Given the description of an element on the screen output the (x, y) to click on. 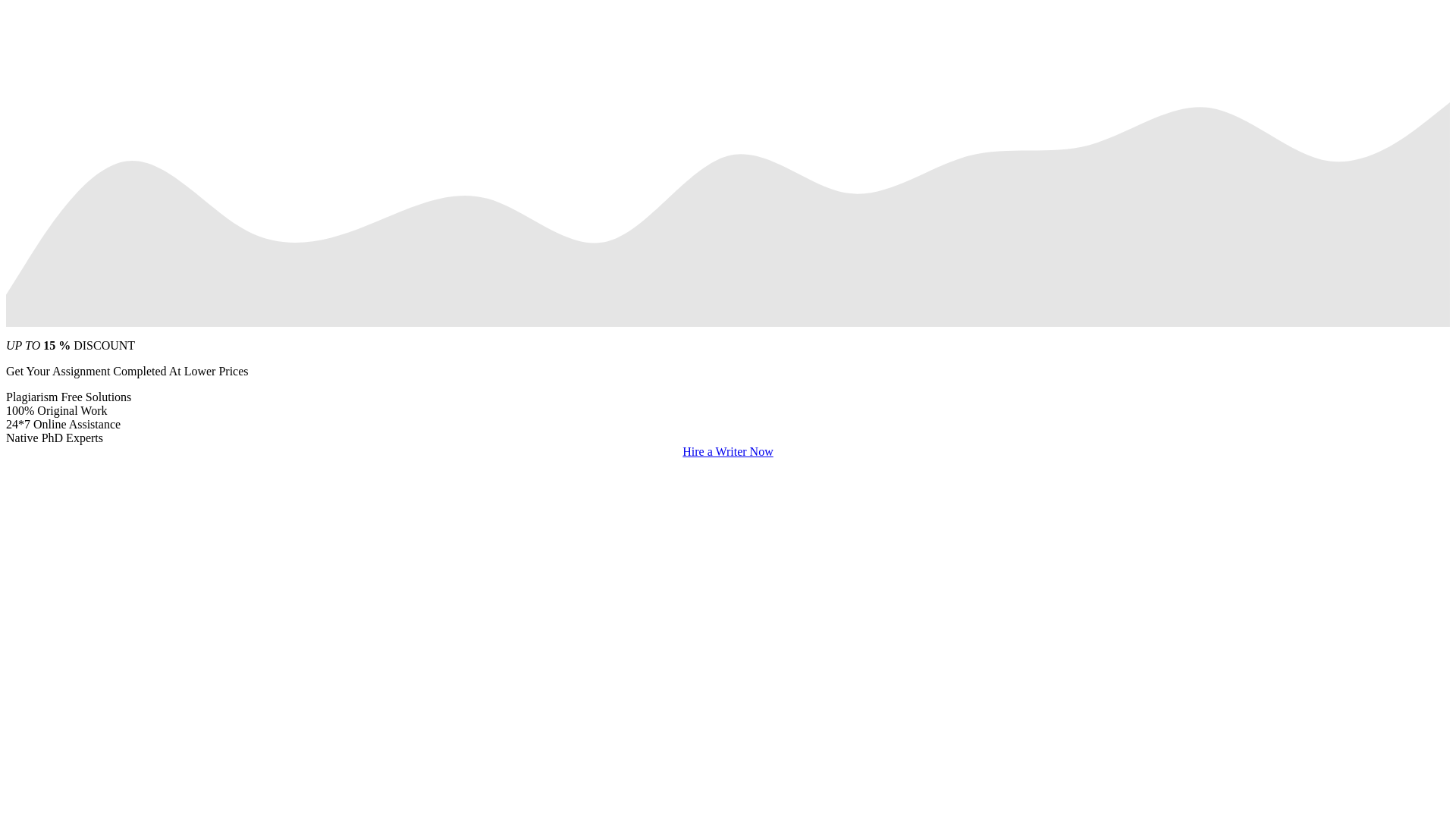
Hire a Writer Now (727, 451)
